Given the description of an element on the screen output the (x, y) to click on. 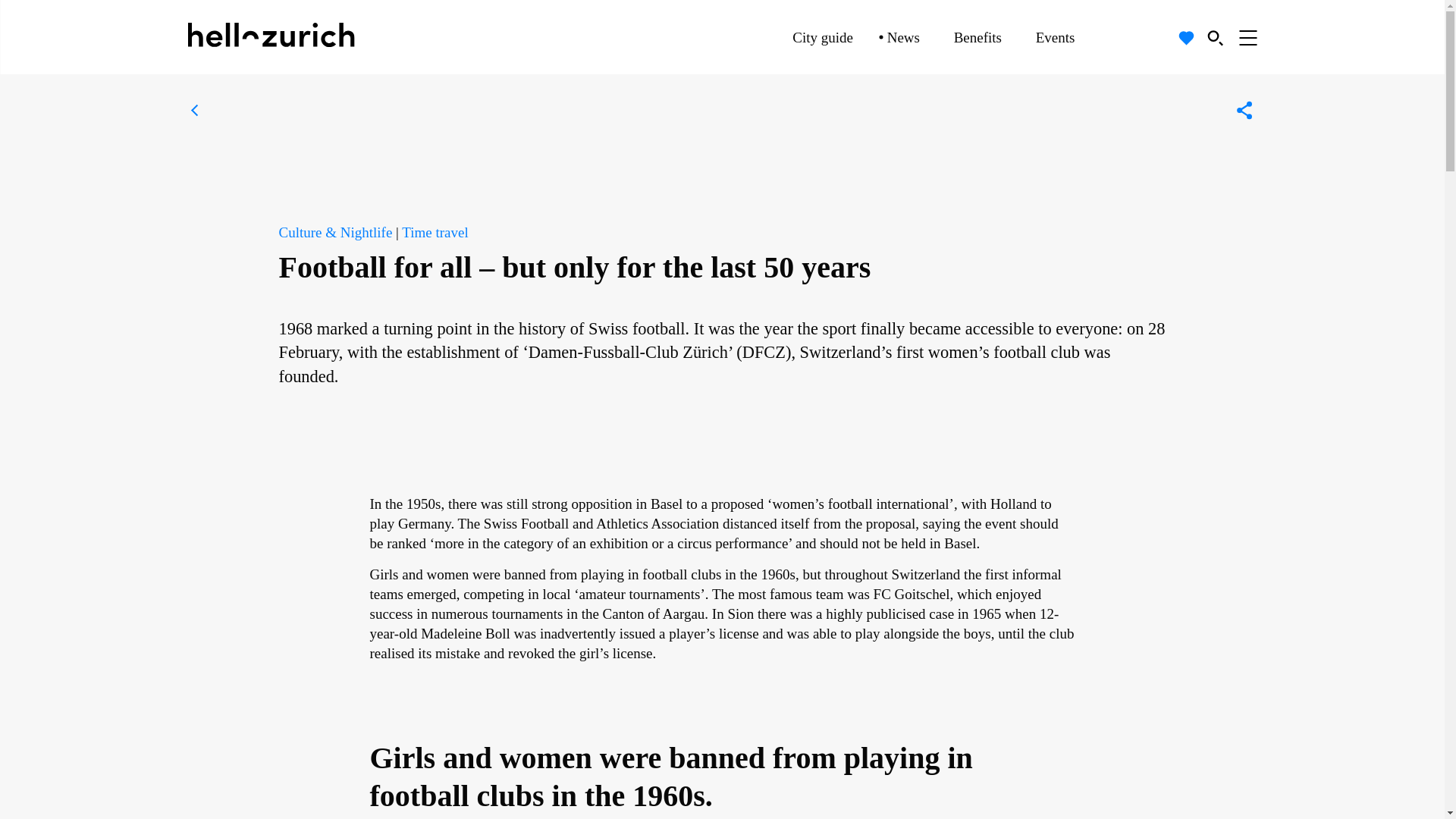
Time travel (434, 232)
Events (1055, 37)
Search (1215, 37)
Benefits (977, 37)
News (903, 37)
City guide (822, 37)
